Given the description of an element on the screen output the (x, y) to click on. 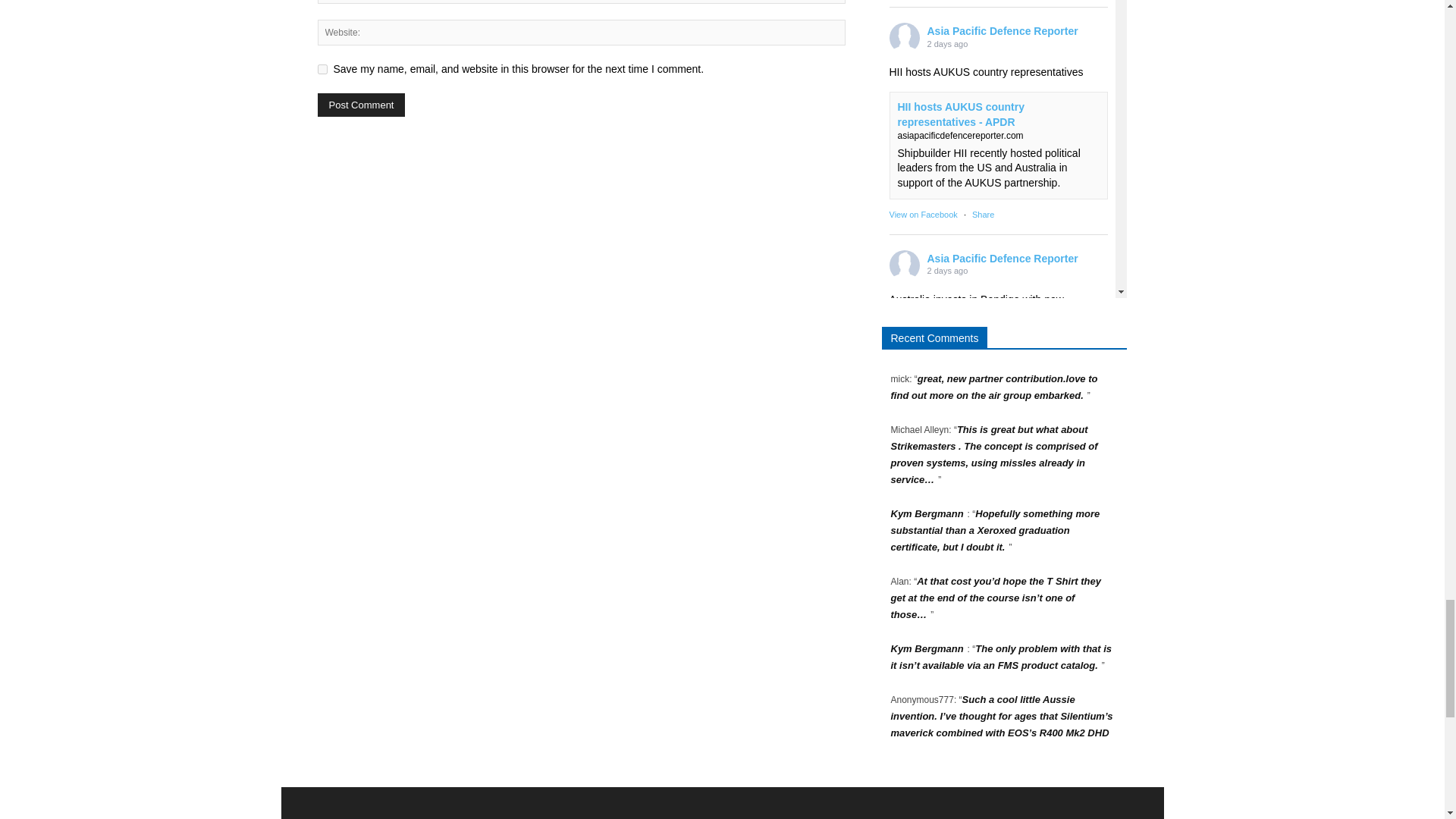
yes (321, 69)
Post Comment (360, 105)
